Given the description of an element on the screen output the (x, y) to click on. 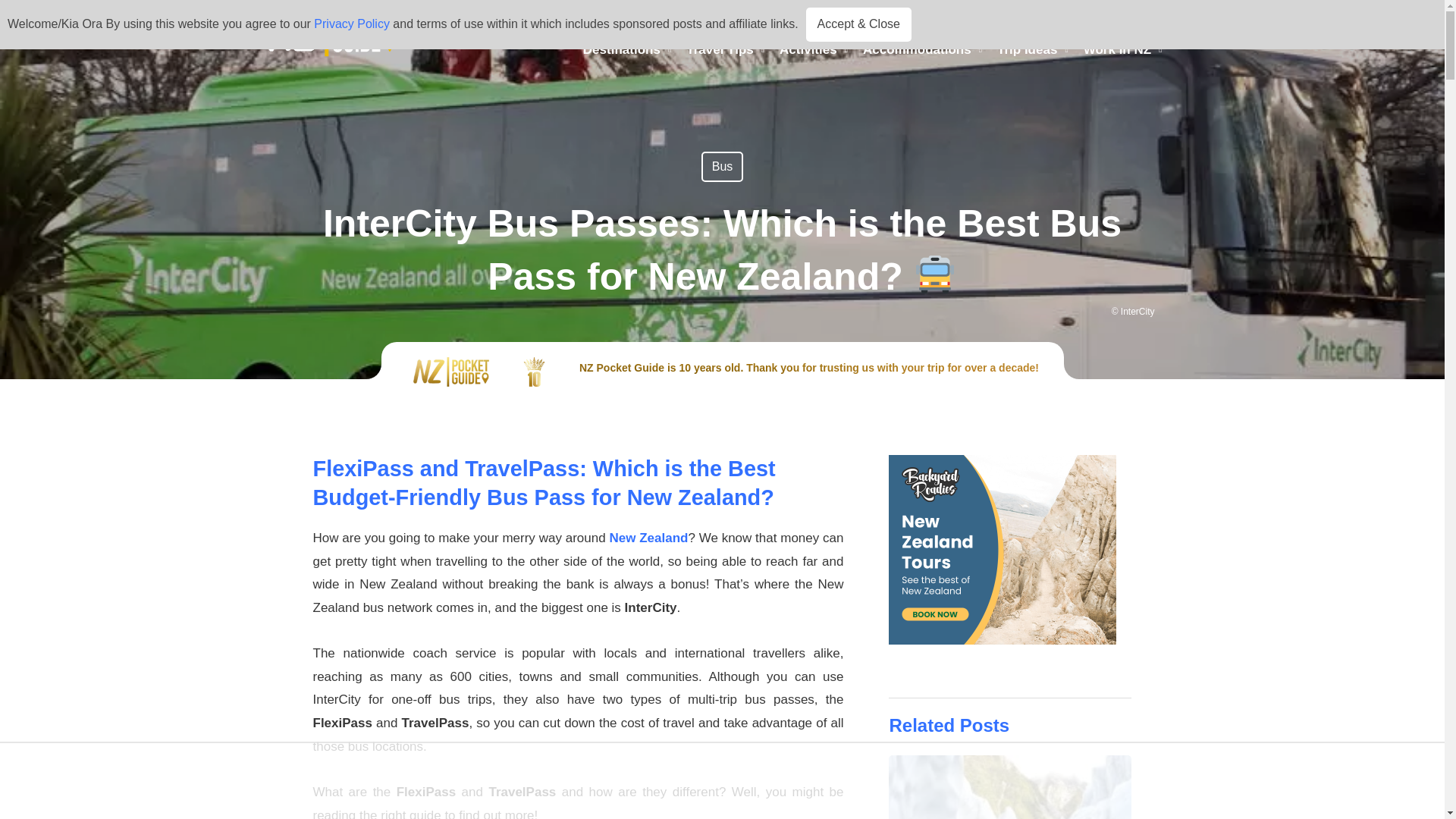
Search (1158, 22)
Privacy Policy (352, 23)
Destinations (627, 49)
About Us (792, 22)
3rd party ad content (1009, 549)
Support Us (867, 22)
